Given the description of an element on the screen output the (x, y) to click on. 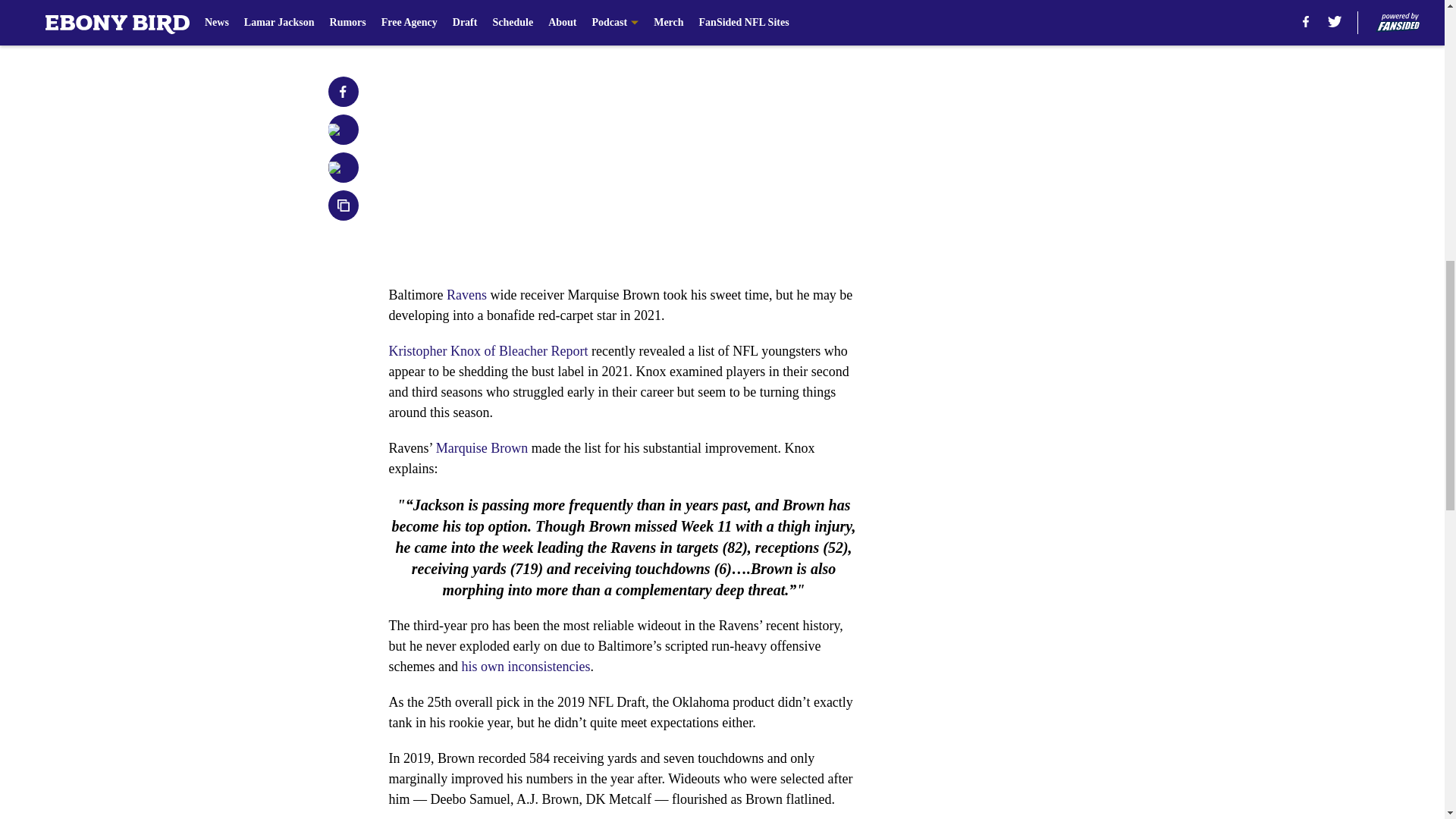
his own inconsistencies (525, 666)
Marquise Brown (481, 447)
Ravens (466, 294)
Kristopher Knox of Bleacher Report (488, 350)
